Given the description of an element on the screen output the (x, y) to click on. 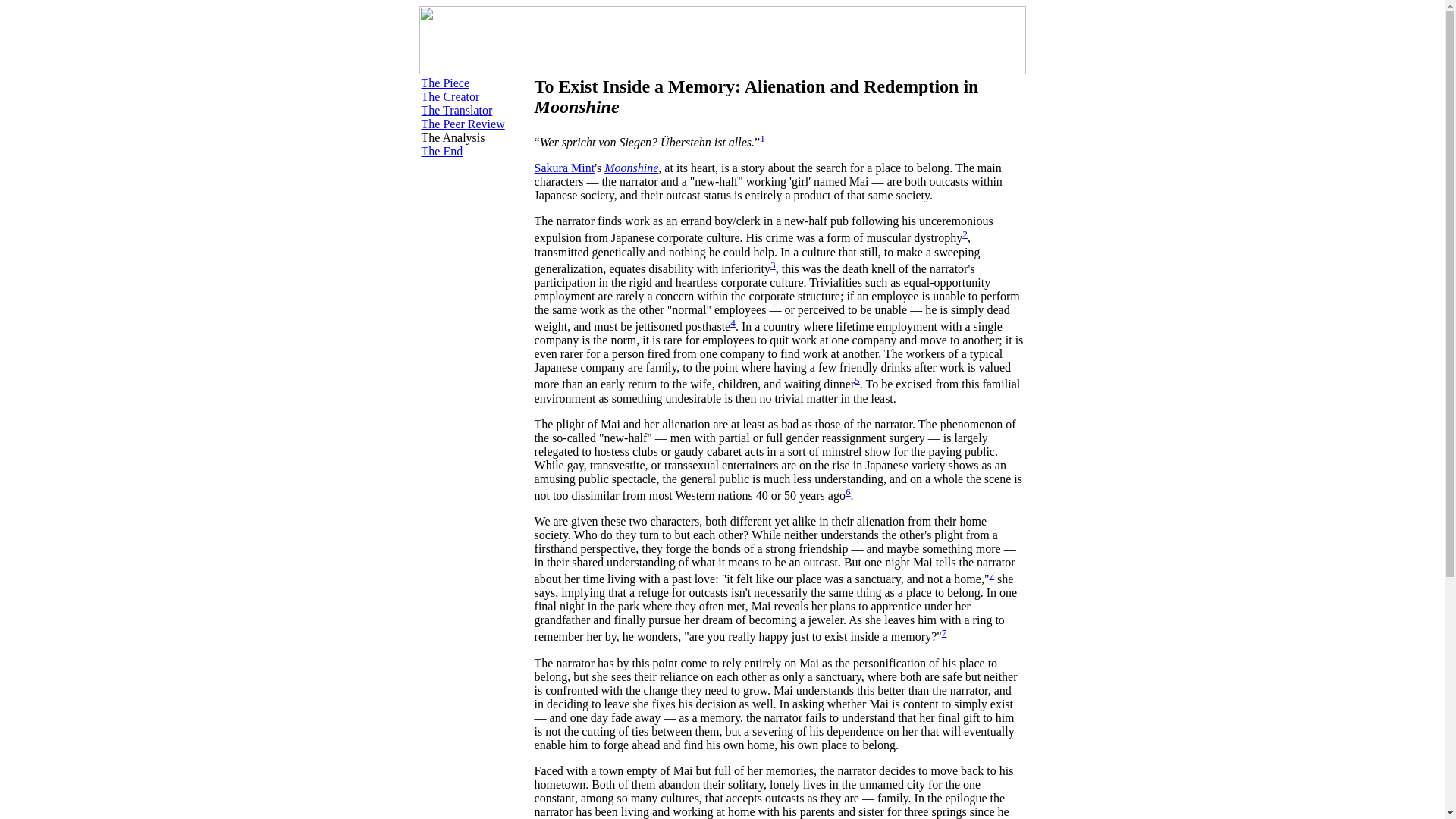
The Peer Review (463, 123)
The End (442, 151)
Sakura Mint (564, 167)
Moonshine (631, 167)
The Piece (446, 82)
The Translator (457, 110)
The Creator (451, 96)
